Given the description of an element on the screen output the (x, y) to click on. 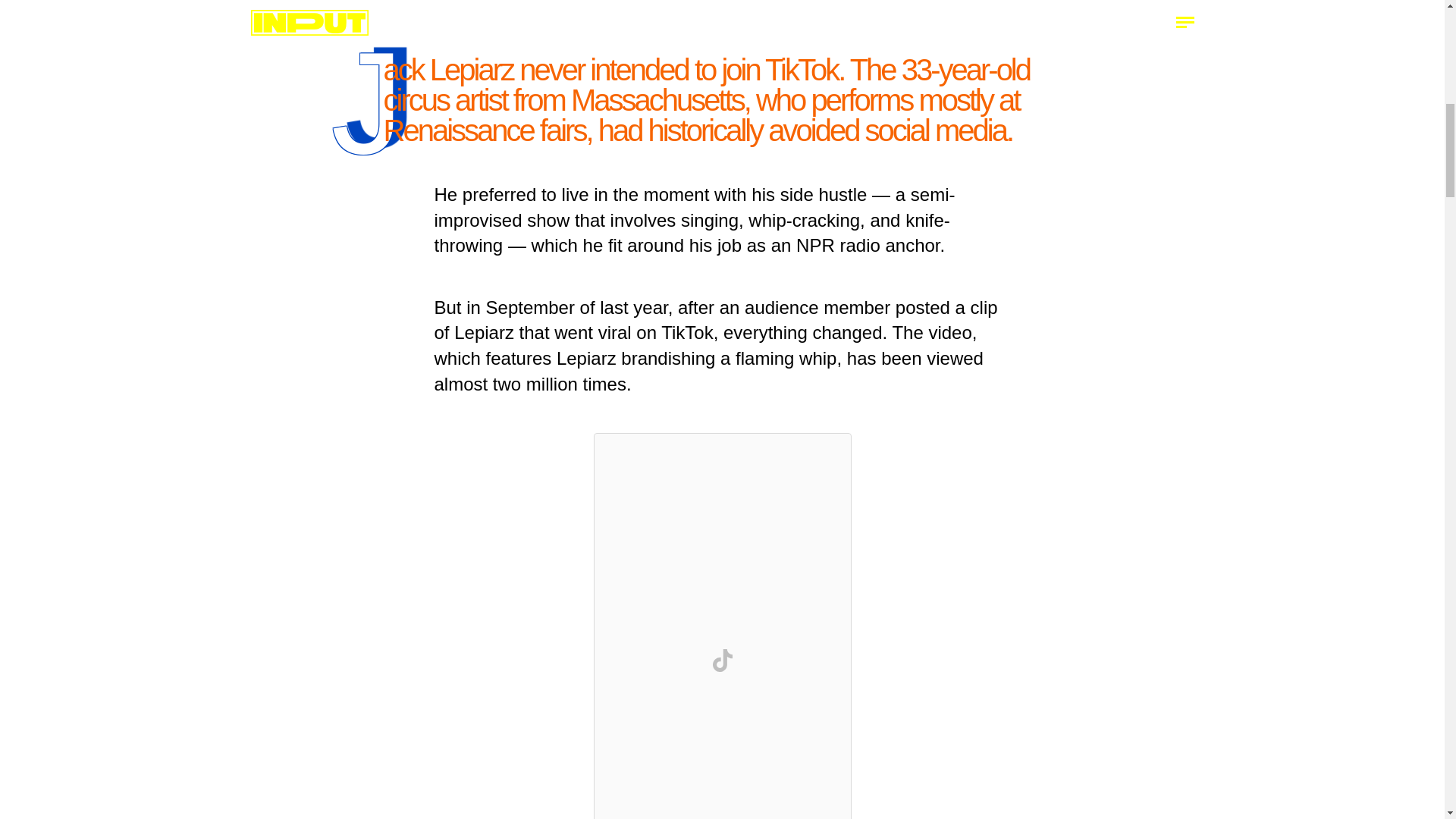
View on TikTok (721, 660)
